Given the description of an element on the screen output the (x, y) to click on. 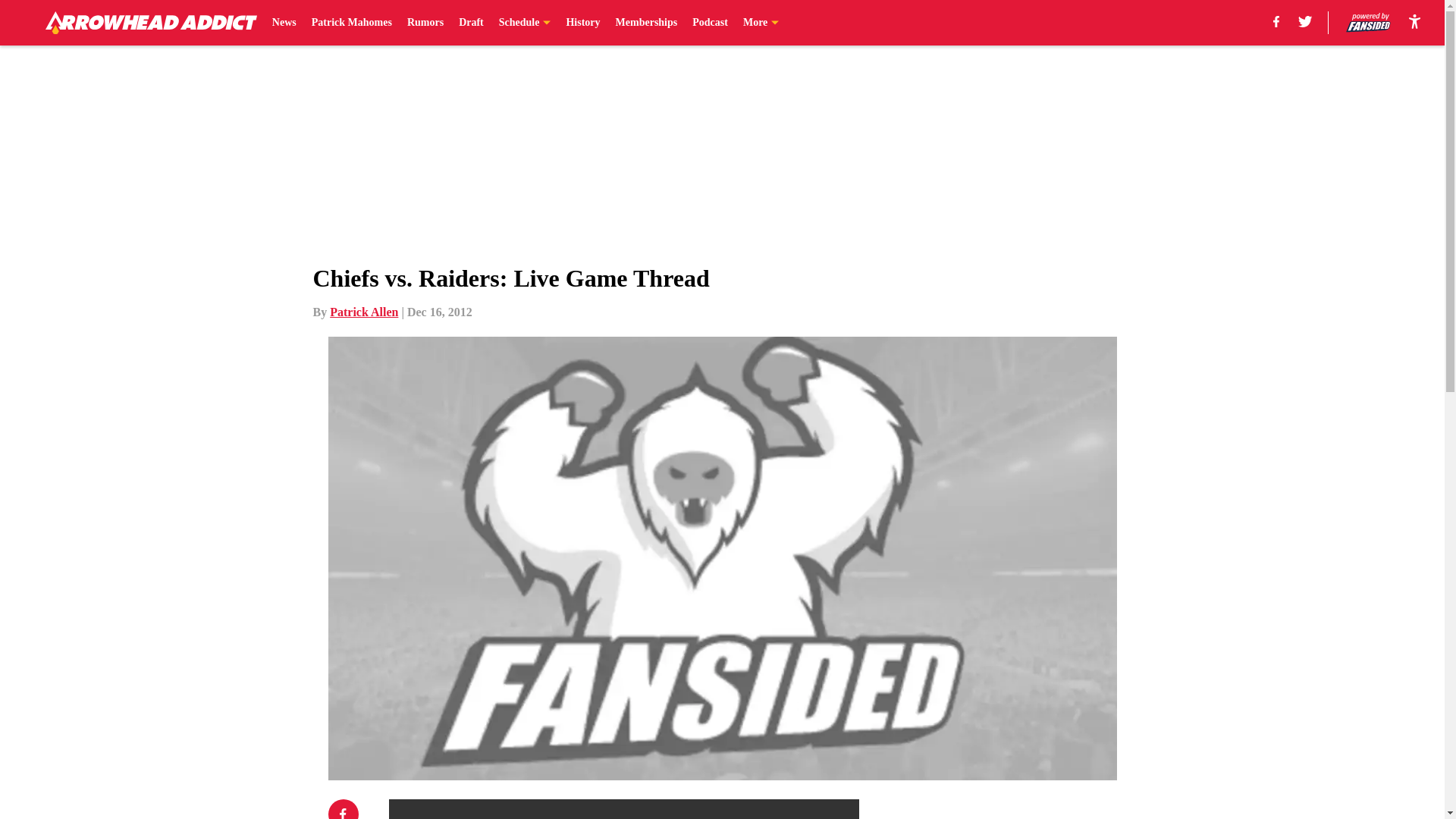
News (284, 22)
History (582, 22)
Draft (470, 22)
Patrick Allen (363, 311)
Rumors (425, 22)
Patrick Mahomes (351, 22)
Memberships (646, 22)
Podcast (710, 22)
